Given the description of an element on the screen output the (x, y) to click on. 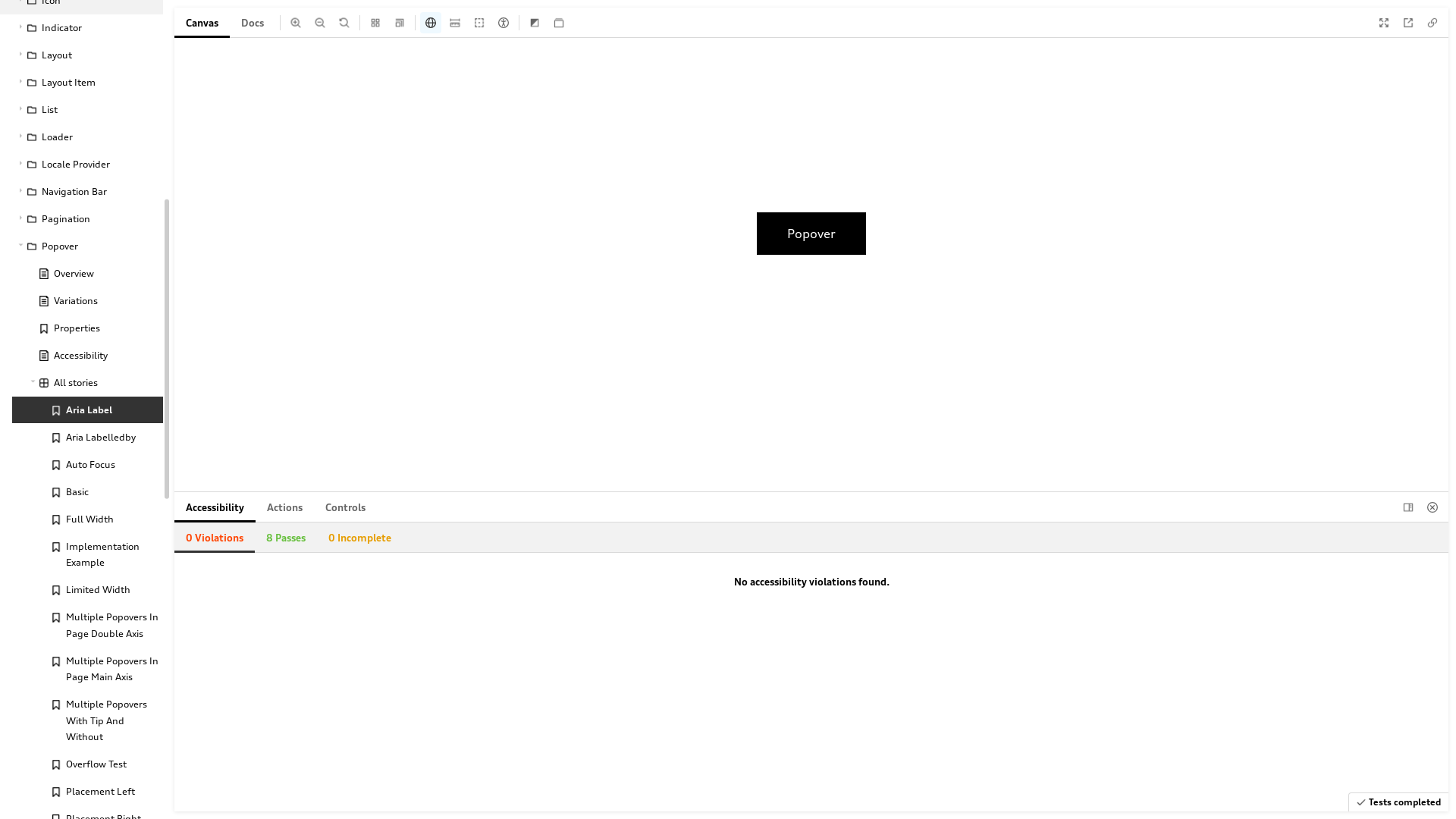
Auto Focus Element type: text (87, 463)
Change the theme of the preview Element type: hover (534, 22)
Overflow Test Element type: text (87, 764)
Multiple Popovers In Page Main Axis Element type: text (87, 668)
storybook-preview-iframe Element type: hover (811, 264)
Aria Labelledby Element type: text (87, 436)
List Element type: text (81, 109)
Aria Label Element type: text (87, 409)
Zoom out Element type: hover (319, 22)
Controls Element type: text (344, 507)
Tests completed Element type: text (1398, 801)
Vision simulator Element type: hover (503, 22)
Open canvas in new tab Element type: hover (1407, 22)
Indicator Element type: text (81, 27)
Implementation Example Element type: text (87, 554)
Layout Item Element type: text (81, 82)
Full Width Element type: text (87, 518)
Enable measure Element type: hover (454, 22)
Change the background level of the preview Element type: hover (558, 22)
Go full screen [F] Element type: hover (1383, 22)
Zoom in Element type: hover (295, 22)
Multiple Popovers In Page Double Axis Element type: text (87, 625)
Internationalization locale Element type: hover (430, 22)
Copy canvas link Element type: hover (1432, 22)
Pagination Element type: text (81, 218)
Overview Element type: text (87, 273)
Docs Element type: text (252, 22)
Apply a grid to the preview Element type: hover (374, 22)
8 Passes Element type: text (285, 537)
Layout Element type: text (81, 55)
Reset zoom Element type: hover (343, 22)
Change the size of the preview Element type: hover (399, 22)
Popover Element type: text (81, 246)
Multiple Popovers With Tip And Without Element type: text (87, 720)
All stories Element type: text (81, 382)
Loader Element type: text (81, 136)
Navigation Bar Element type: text (81, 191)
Placement Left Element type: text (87, 791)
Canvas Element type: text (201, 22)
Actions Element type: text (284, 507)
Basic Element type: text (87, 491)
Properties Element type: text (87, 328)
Accessibility Element type: text (87, 355)
Hide addons [A] Element type: hover (1432, 506)
0 Violations Element type: text (214, 537)
Limited Width Element type: text (87, 589)
Change addon orientation [D] Element type: hover (1407, 506)
Variations Element type: text (87, 300)
0 Incomplete Element type: text (359, 537)
Locale Provider Element type: text (81, 164)
Skip to canvas Element type: text (113, 404)
Apply outlines to the preview Element type: hover (478, 22)
Accessibility Element type: text (214, 507)
